Given the description of an element on the screen output the (x, y) to click on. 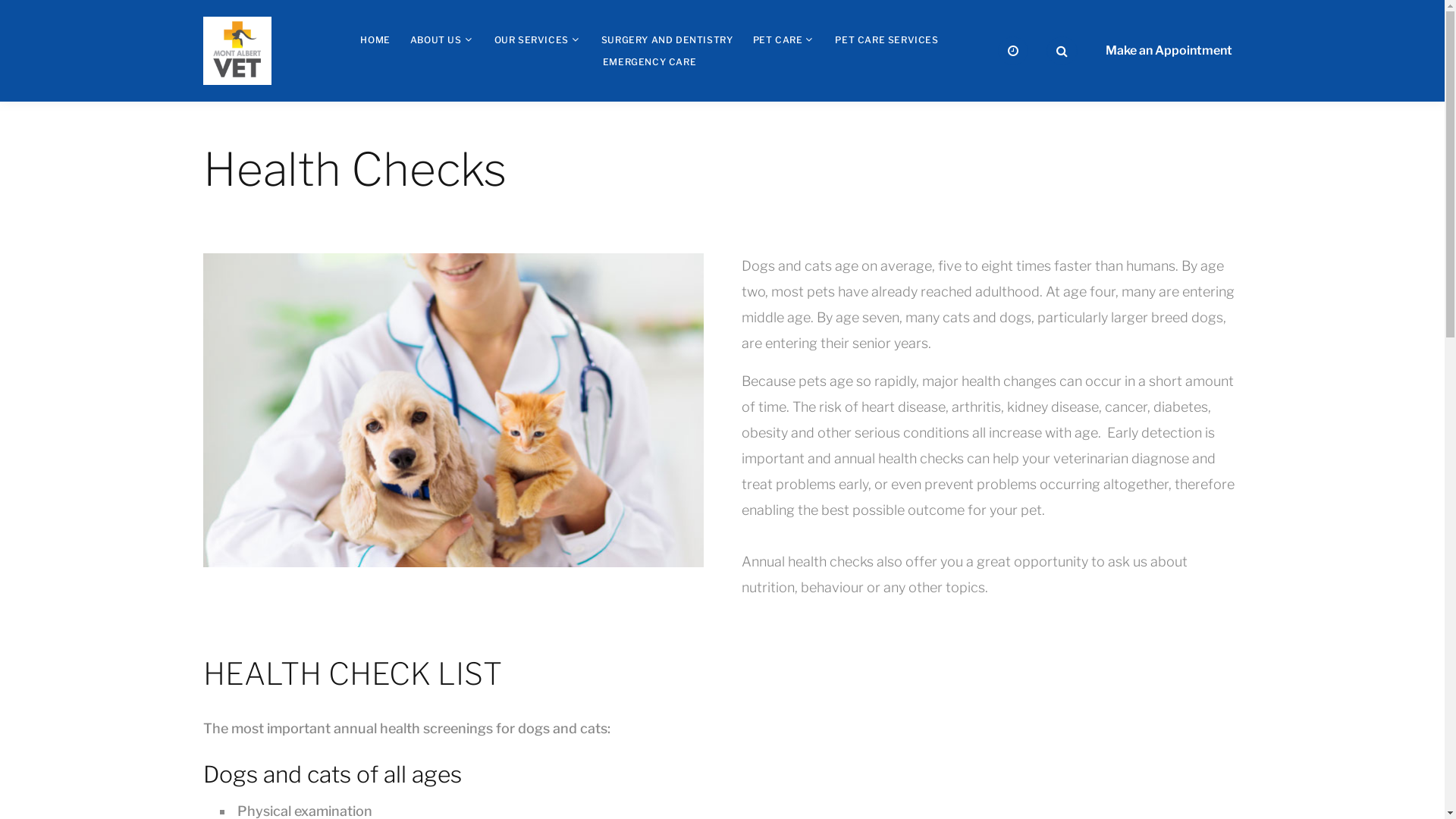
SURGERY AND DENTISTRY Element type: text (667, 39)
PET CARE SERVICES Element type: text (886, 39)
Make an Appointment Element type: text (1168, 50)
OUR SERVICES Element type: text (531, 39)
HOME Element type: text (374, 39)
PET CARE Element type: text (777, 39)
EMERGENCY CARE Element type: text (649, 61)
ABOUT US Element type: text (435, 39)
